Given the description of an element on the screen output the (x, y) to click on. 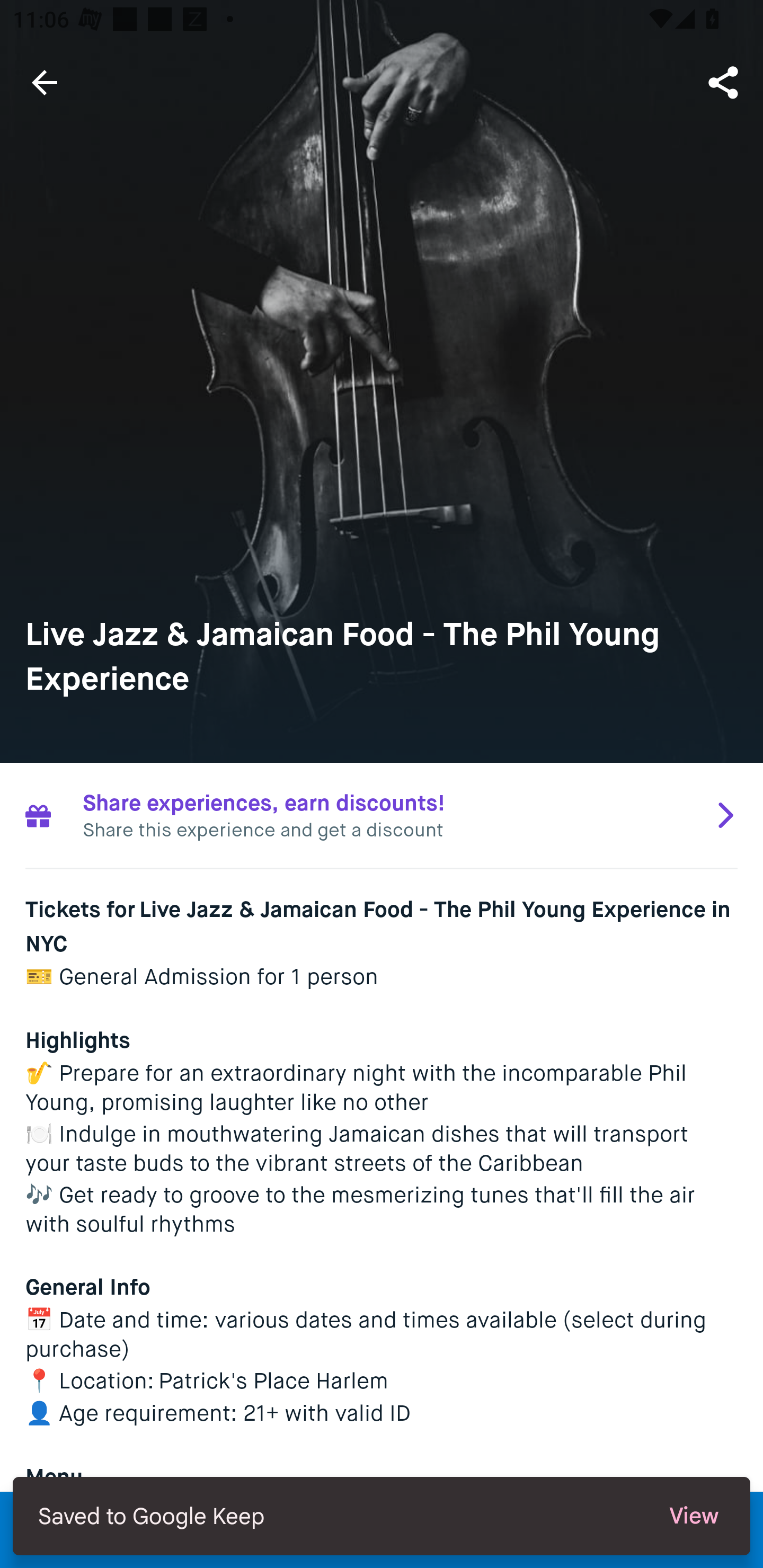
View (693, 1515)
